Given the description of an element on the screen output the (x, y) to click on. 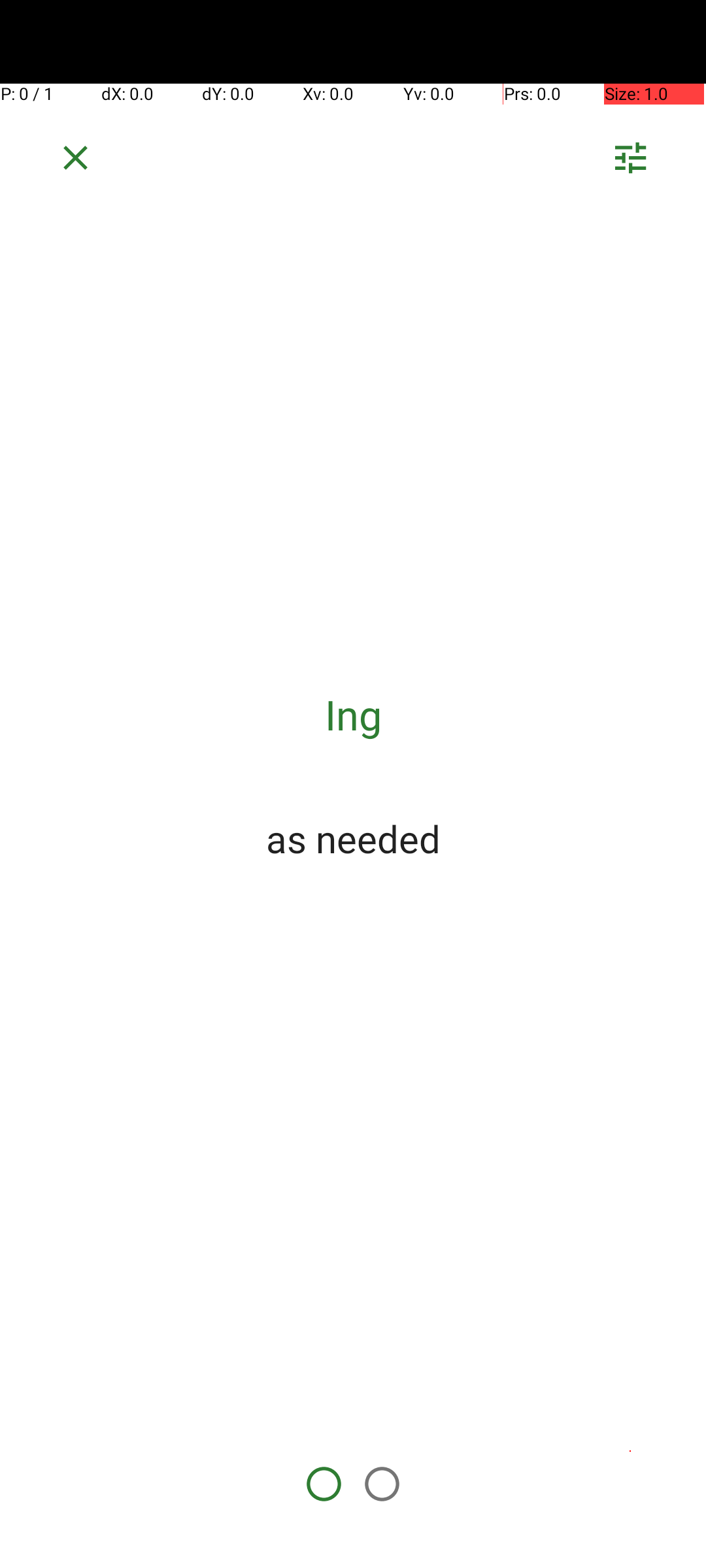
as needed Element type: android.widget.TextView (353, 838)
